Given the description of an element on the screen output the (x, y) to click on. 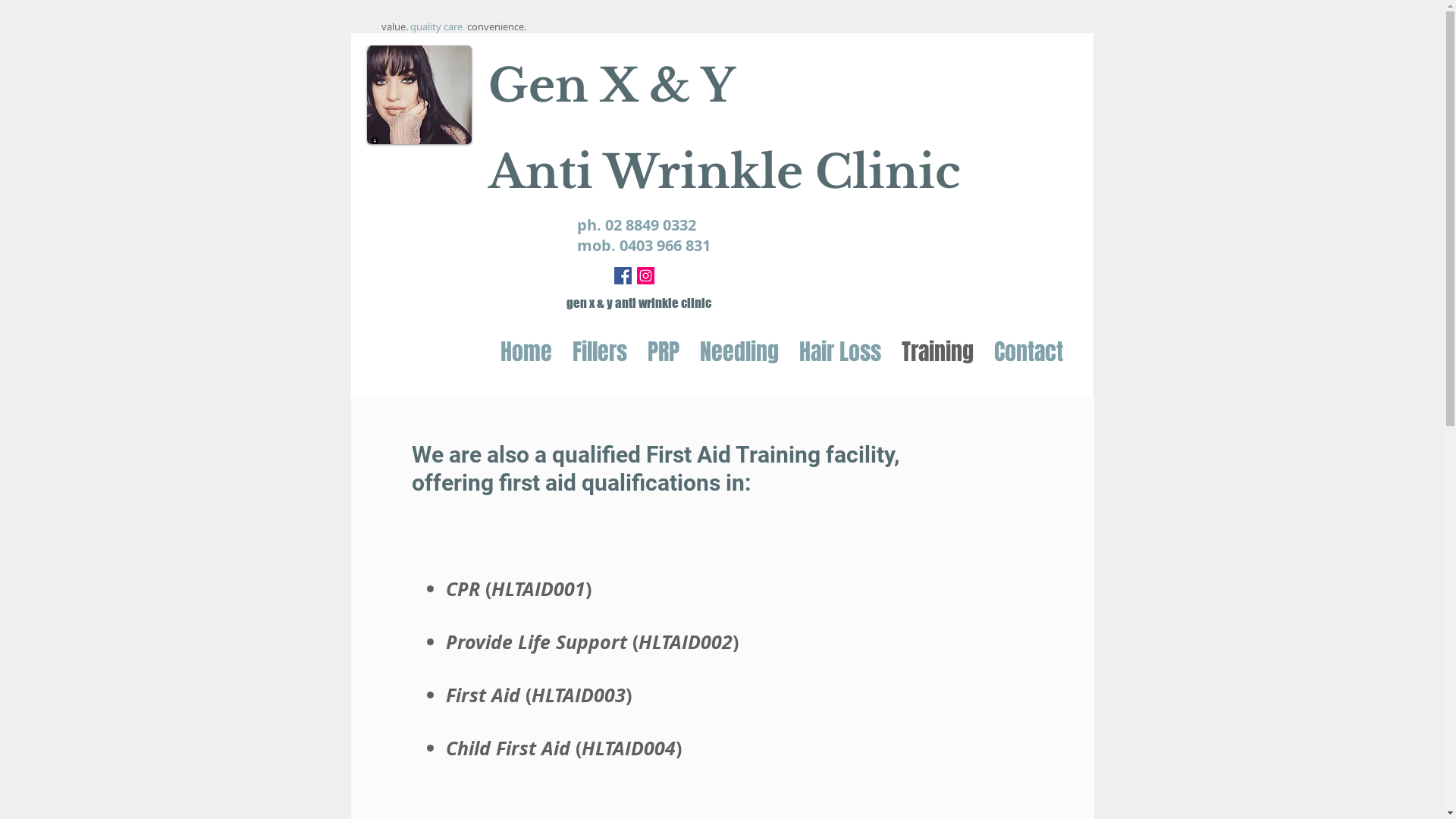
PRP Element type: text (662, 351)
Home Element type: text (525, 351)
Hair Loss Element type: text (839, 351)
Gen Hat.jpg Element type: hover (419, 94)
Needling Element type: text (739, 351)
Contact Element type: text (1028, 351)
Training Element type: text (937, 351)
Fillers Element type: text (599, 351)
